Given the description of an element on the screen output the (x, y) to click on. 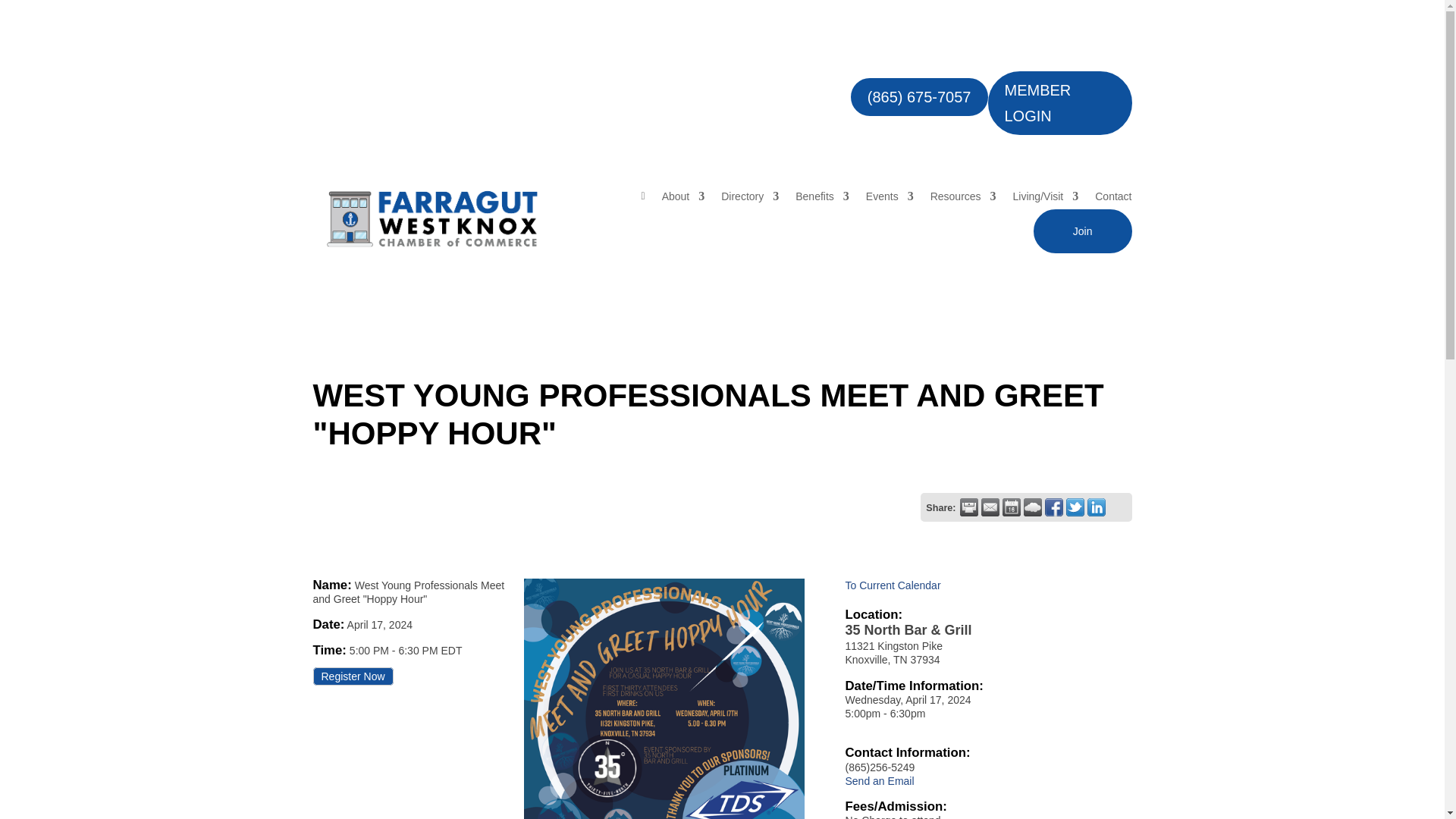
Add to Calendar (1011, 506)
Email to a Friend (989, 506)
Resources (962, 196)
Print this Page (968, 506)
Directory (749, 196)
Events (890, 196)
Share on LinkedIn (1096, 506)
About (683, 196)
MEMBER LOGIN (1059, 103)
Contact (1112, 196)
